Given the description of an element on the screen output the (x, y) to click on. 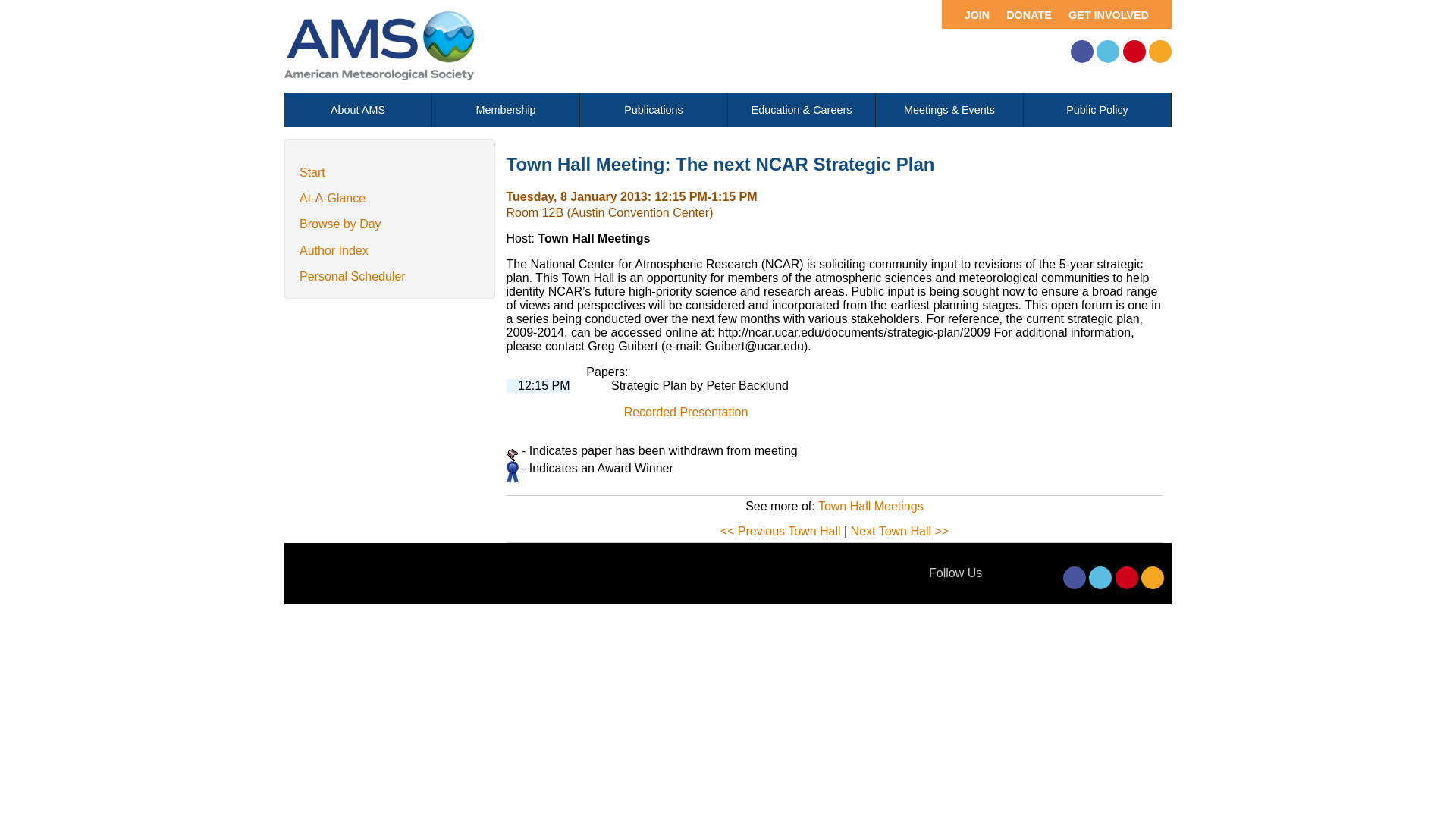
Twitter (1100, 577)
Facebook (1081, 51)
Membership (505, 109)
JOIN (968, 14)
Author Index (333, 250)
At-A-Glance (332, 197)
DONATE (1025, 14)
Recorded Presentation (686, 411)
YouTube (1133, 51)
RSS (1160, 51)
About AMS (356, 109)
Twitter (1107, 51)
GET INVOLVED (1114, 14)
Publications (652, 109)
Town Hall Meetings (870, 505)
